Given the description of an element on the screen output the (x, y) to click on. 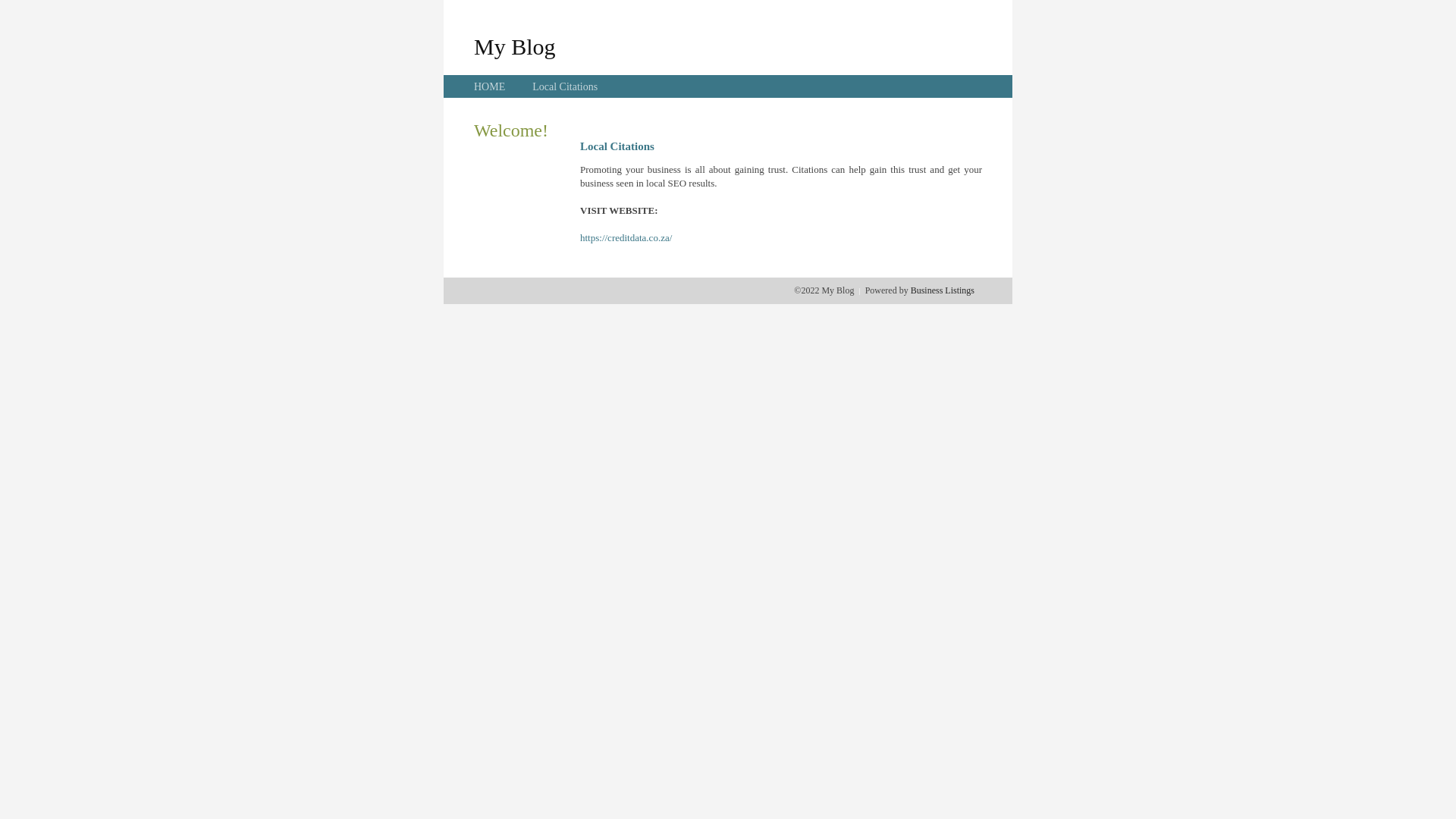
Business Listings Element type: text (942, 290)
HOME Element type: text (489, 86)
https://creditdata.co.za/ Element type: text (625, 237)
Local Citations Element type: text (564, 86)
My Blog Element type: text (514, 46)
